Given the description of an element on the screen output the (x, y) to click on. 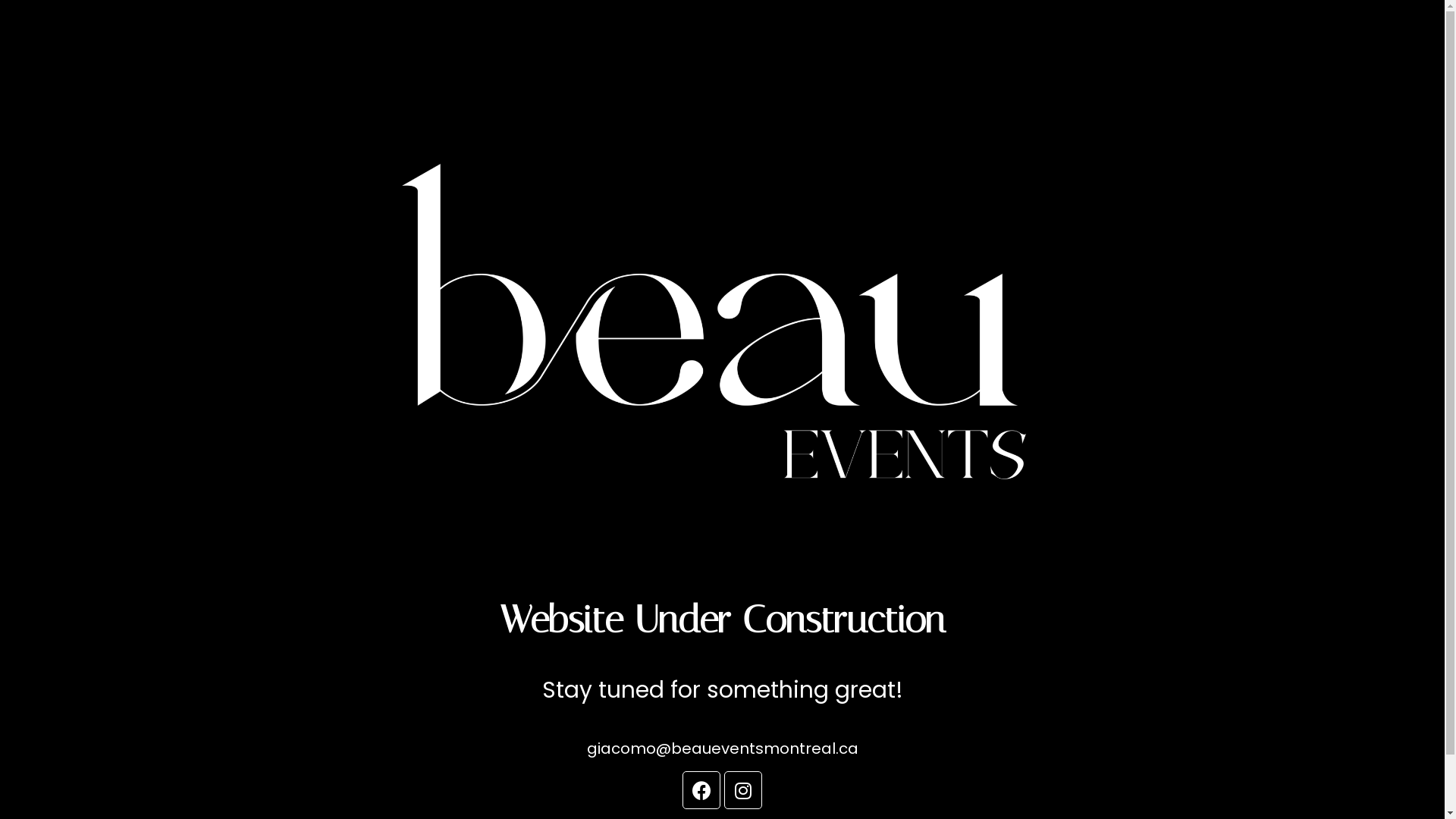
giacomo@beaueventsmontreal.ca Element type: text (722, 748)
